Given the description of an element on the screen output the (x, y) to click on. 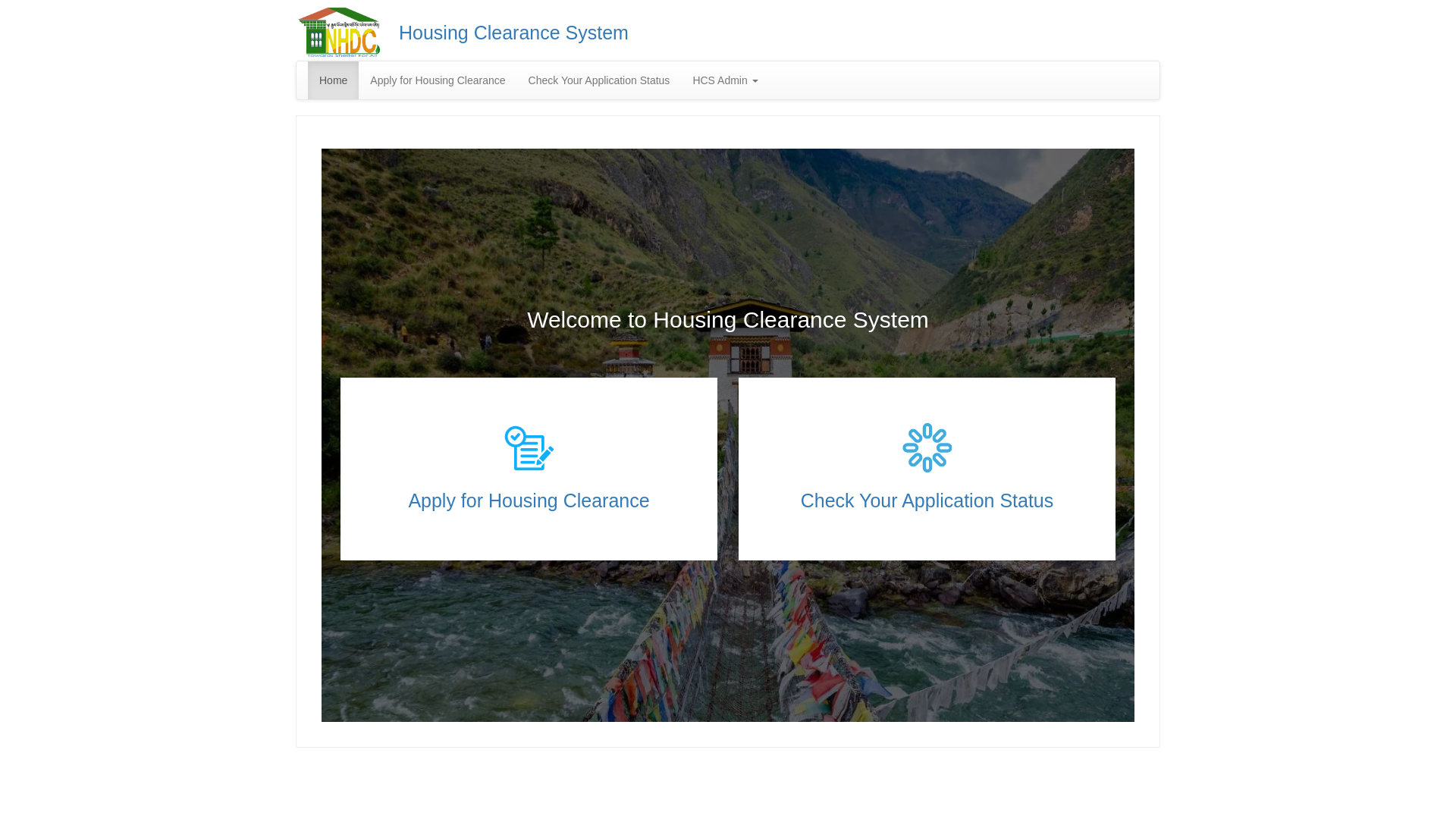
Check Your Application Status Element type: text (599, 80)
Housing Clearance System Element type: text (513, 32)
Home Element type: text (332, 80)
Apply for Housing Clearance Element type: text (528, 500)
Check Your Application Status Element type: text (927, 500)
HCS Admin Element type: text (724, 80)
Apply for Housing Clearance Element type: text (437, 80)
